Given the description of an element on the screen output the (x, y) to click on. 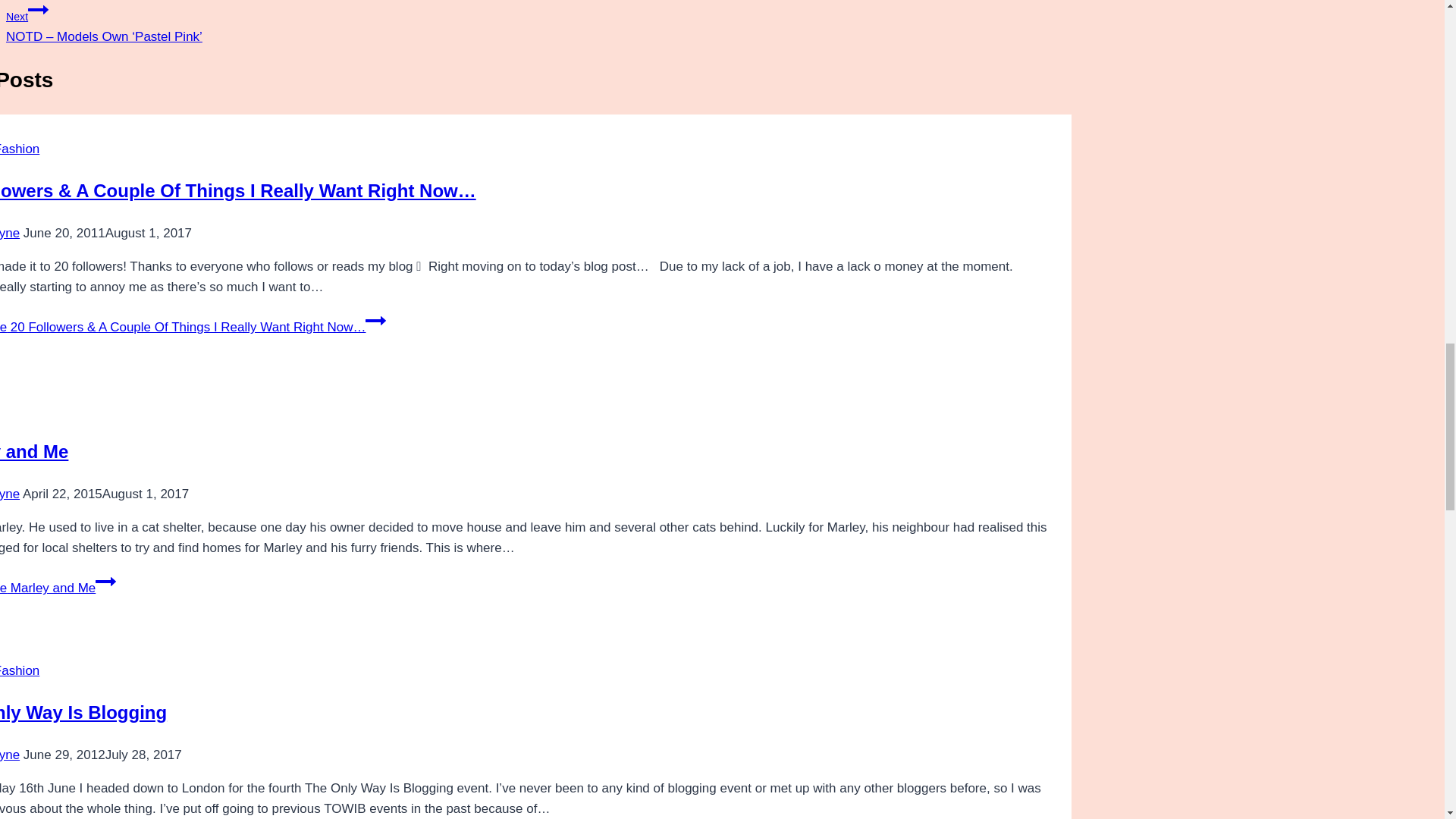
Marley and Me (34, 451)
Fashion (19, 148)
Lisa Jayne (10, 493)
The Only Way Is Blogging (83, 711)
Lisa Jayne (10, 233)
Read More Marley and Me (58, 587)
Lisa Jayne (10, 754)
Fashion (19, 670)
